Given the description of an element on the screen output the (x, y) to click on. 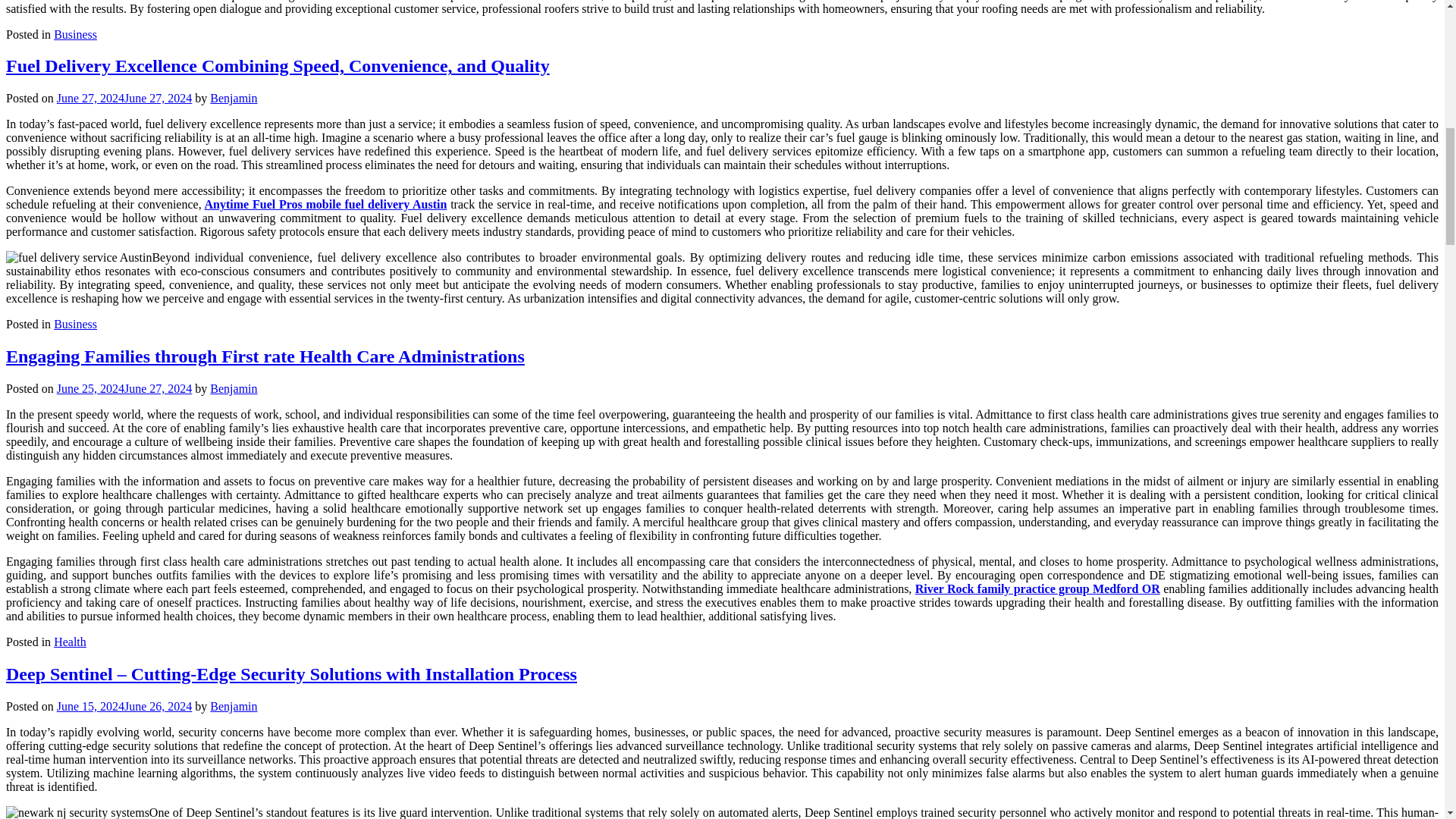
June 15, 2024June 26, 2024 (124, 706)
Anytime Fuel Pros mobile fuel delivery Austin (325, 204)
Benjamin (233, 97)
Benjamin (233, 706)
Benjamin (233, 388)
June 27, 2024June 27, 2024 (124, 97)
Business (75, 323)
Business (75, 33)
Health (69, 641)
June 25, 2024June 27, 2024 (124, 388)
River Rock family practice group Medford OR (1037, 588)
